Given the description of an element on the screen output the (x, y) to click on. 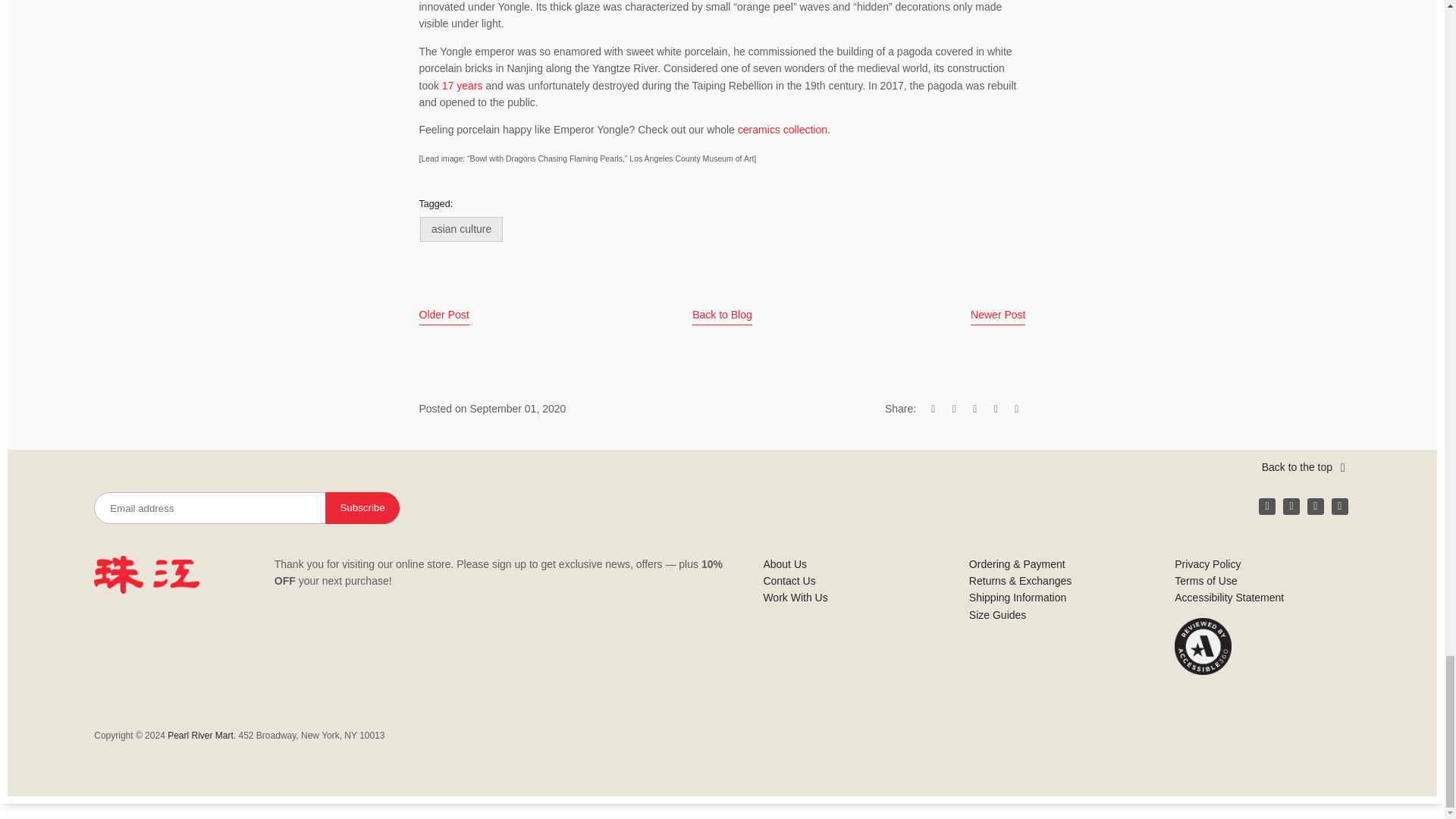
Show articles tagged asian culture (461, 228)
Twitter (1315, 506)
Instagram (1291, 506)
Pinterest (1340, 506)
Facebook (1267, 506)
Pin the main image (974, 408)
Share on Twitter (953, 408)
Share on Facebook (933, 408)
Share using email (1016, 408)
Subscribe (361, 508)
